Given the description of an element on the screen output the (x, y) to click on. 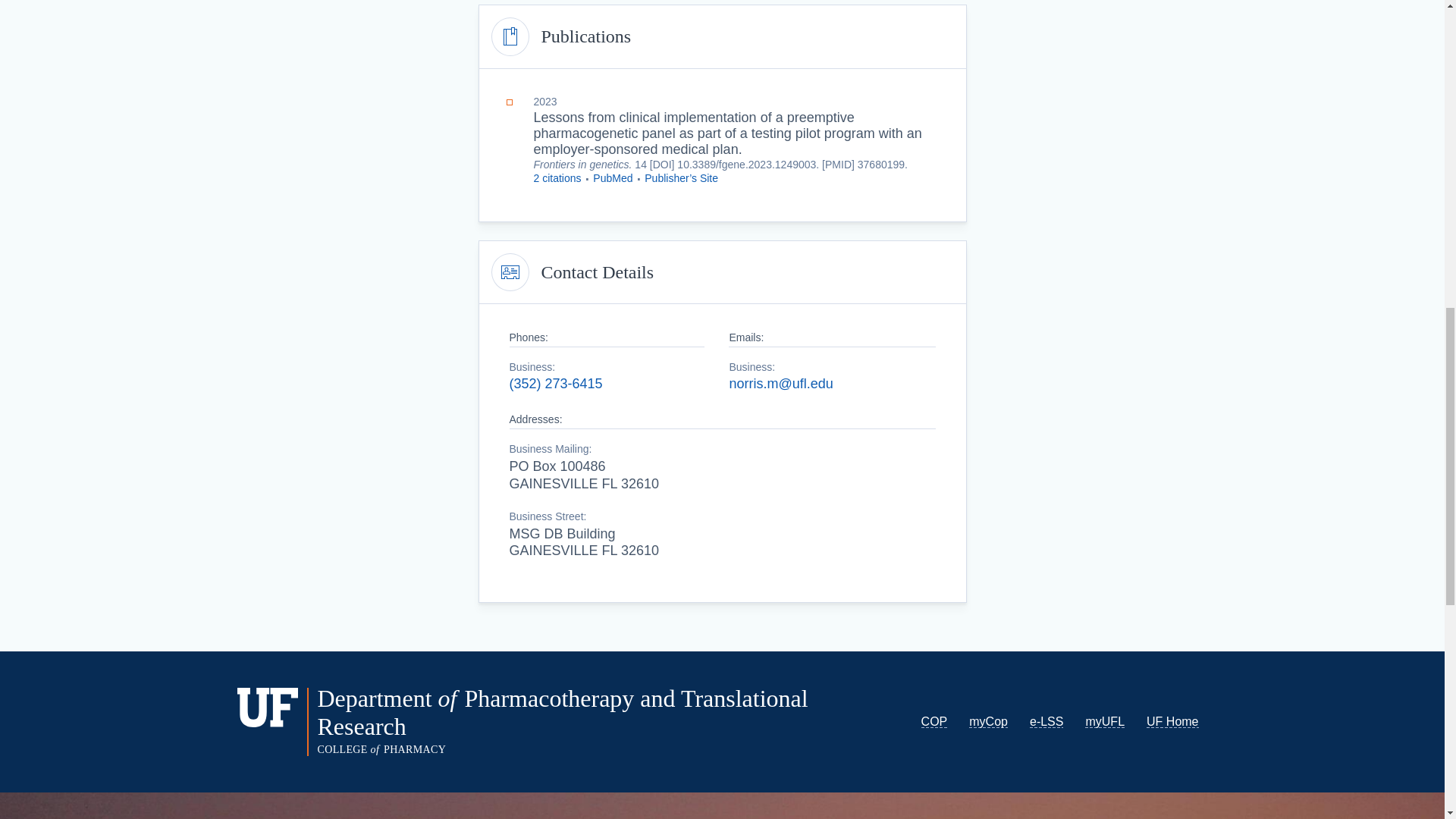
myCop (988, 721)
myUFL (1104, 721)
COP (934, 721)
UF Home (1172, 721)
e-LSS (1045, 721)
